Given the description of an element on the screen output the (x, y) to click on. 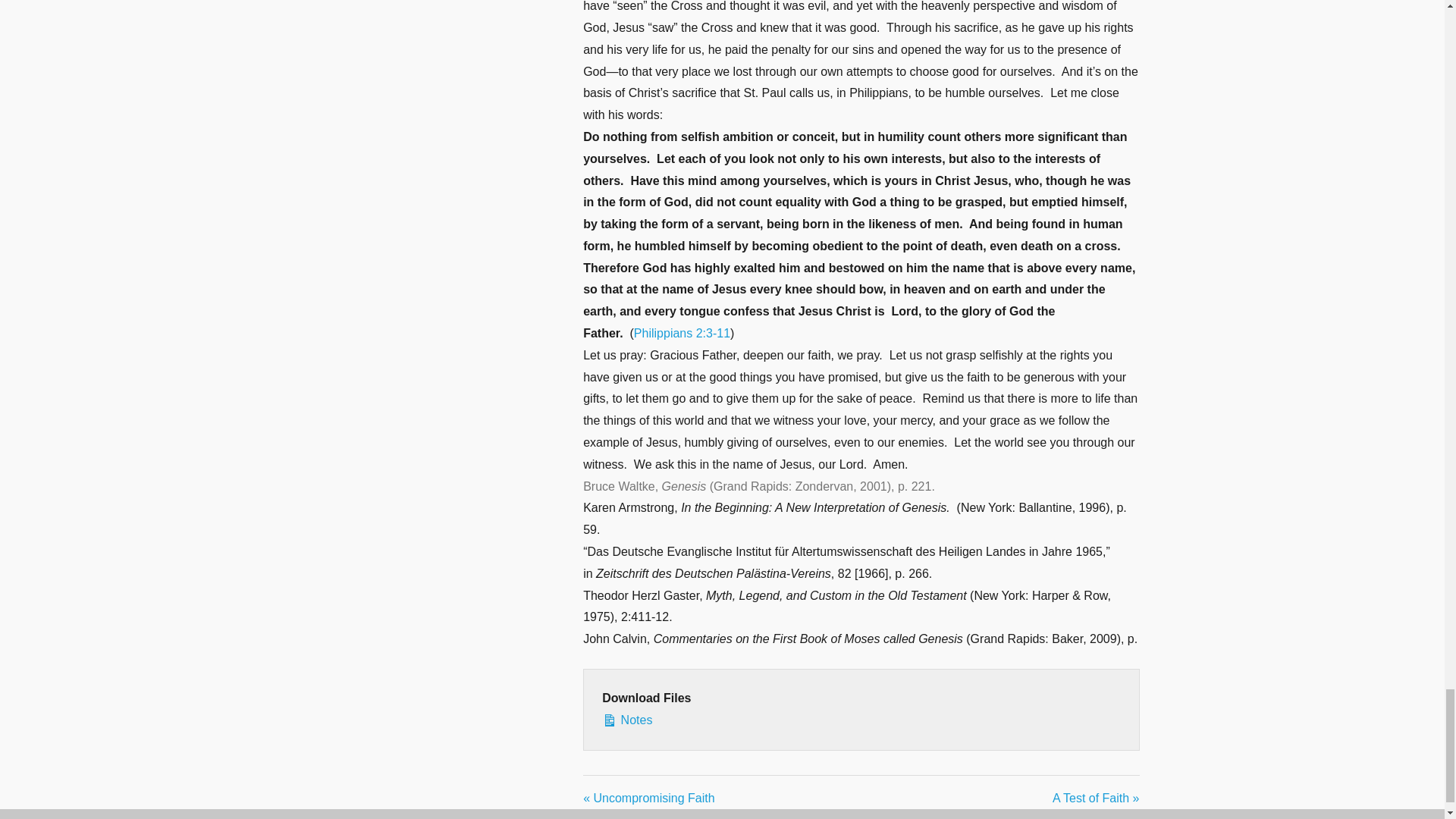
Philippians 2:3-11 (681, 332)
